Given the description of an element on the screen output the (x, y) to click on. 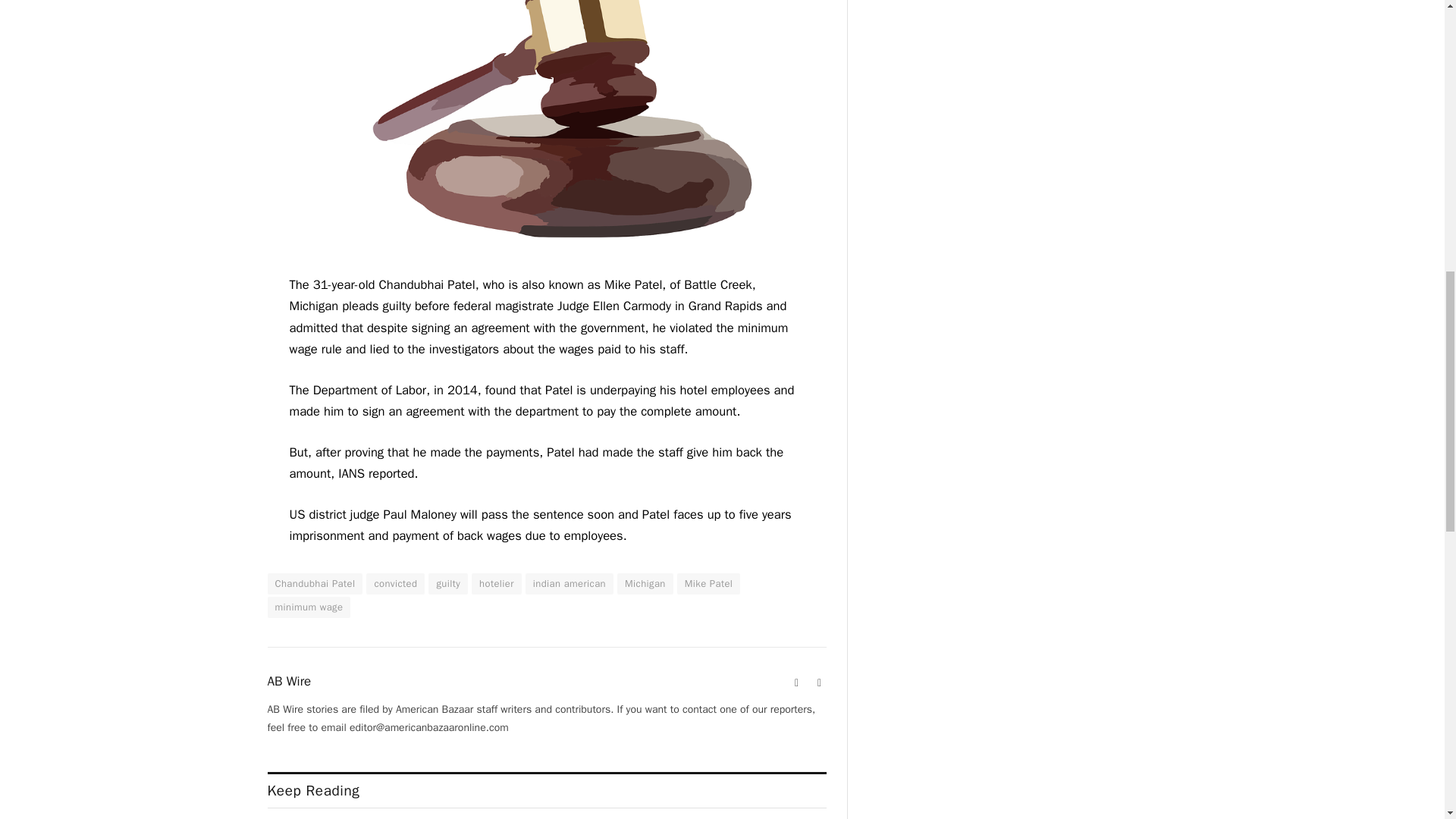
Michigan (644, 583)
Mike Patel (709, 583)
AB Wire (288, 681)
indian american (568, 583)
convicted (395, 583)
Chandubhai Patel (314, 583)
minimum wage (308, 607)
guilty (447, 583)
Website (796, 683)
hotelier (496, 583)
